Given the description of an element on the screen output the (x, y) to click on. 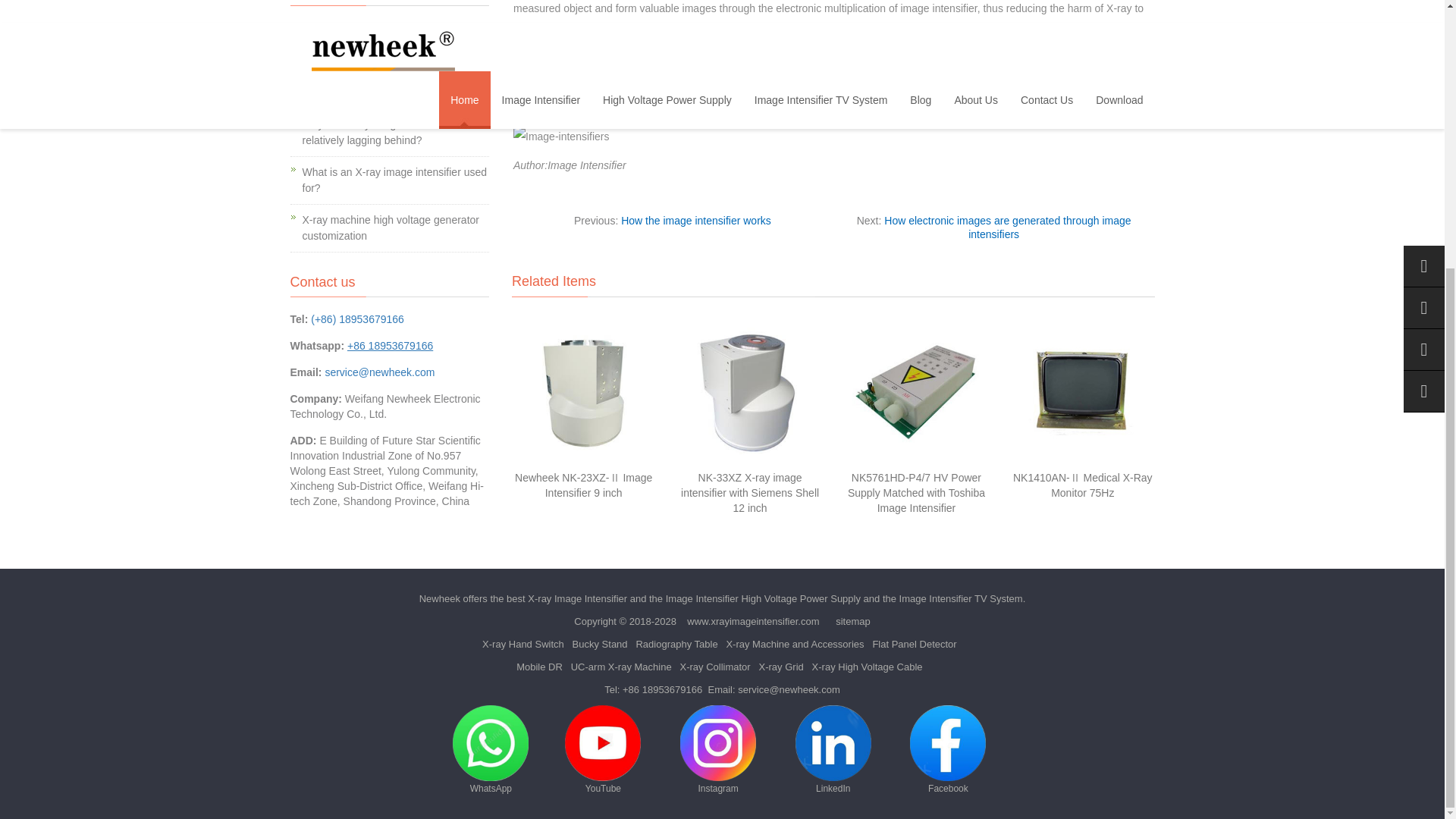
High-voltage power supply for C-arm image intensifier (387, 84)
NK-33XZ X-ray image intensifier with Siemens Shell 12 inch (749, 492)
NK-33XZ X-ray image intensifier with Siemens Shell 12 inch (749, 492)
 Ukrainian customer looking for image intensifier (389, 36)
Why are X-ray image intensifiers relatively lagging behind? (377, 131)
 Why are X-ray image intensifiers relatively lagging behind? (377, 131)
What is an X-ray image intensifier used for? (393, 180)
 X-ray machine high voltage generator customization (390, 227)
 What is an X-ray image intensifier used for? (393, 180)
 High-voltage power supply for C-arm image intensifier (387, 84)
X-ray machine high voltage generator customization (390, 227)
Ukrainian customer looking for image intensifier (389, 36)
How the image intensifier works (696, 220)
